Given the description of an element on the screen output the (x, y) to click on. 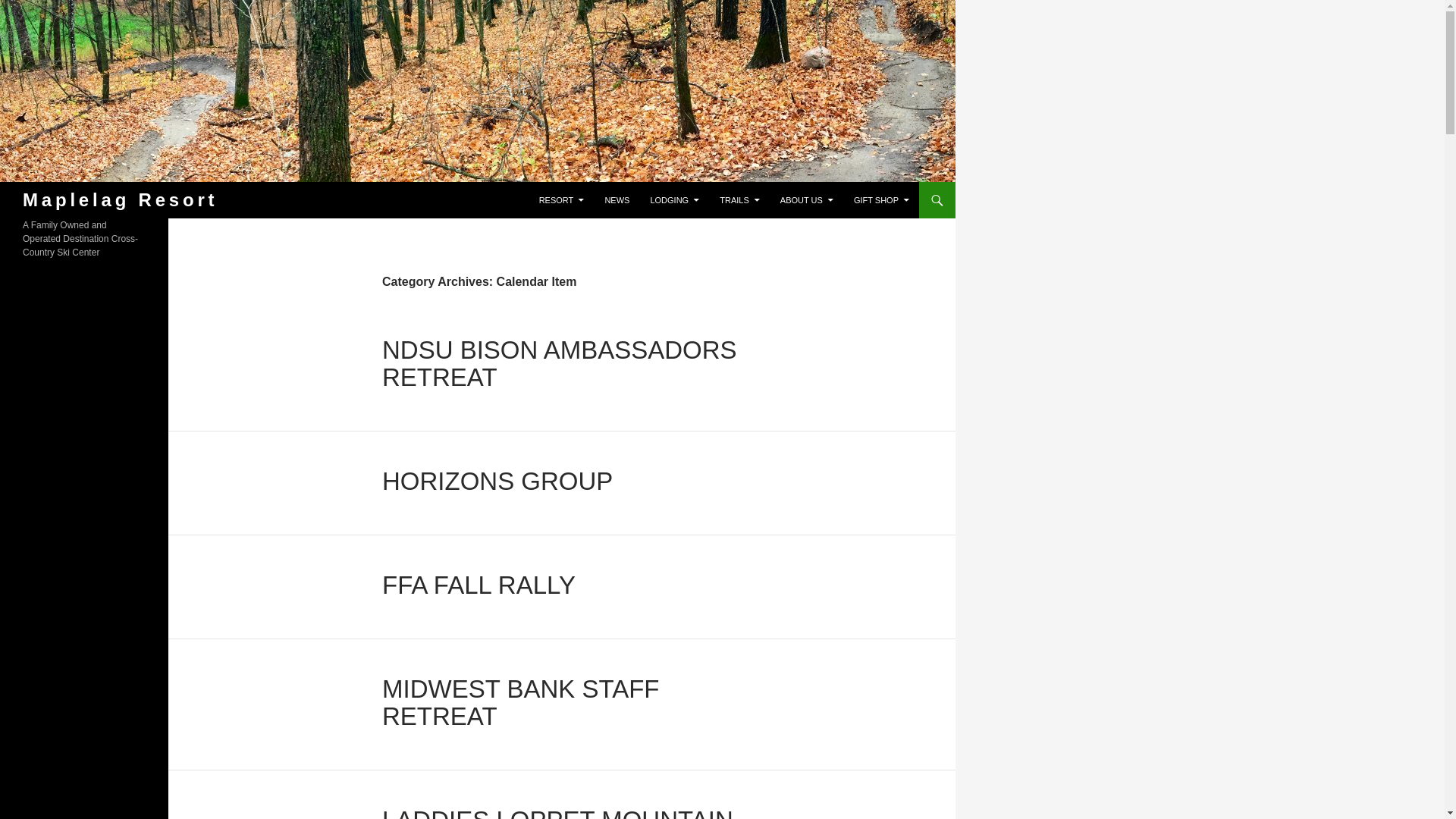
NEWS (617, 199)
NDSU BISON AMBASSADORS RETREAT (558, 363)
ABOUT US (807, 199)
LODGING (673, 199)
HORIZONS GROUP (496, 480)
RESORT (561, 199)
Maplelag Resort (119, 199)
GIFT SHOP (881, 199)
TRAILS (739, 199)
